Given the description of an element on the screen output the (x, y) to click on. 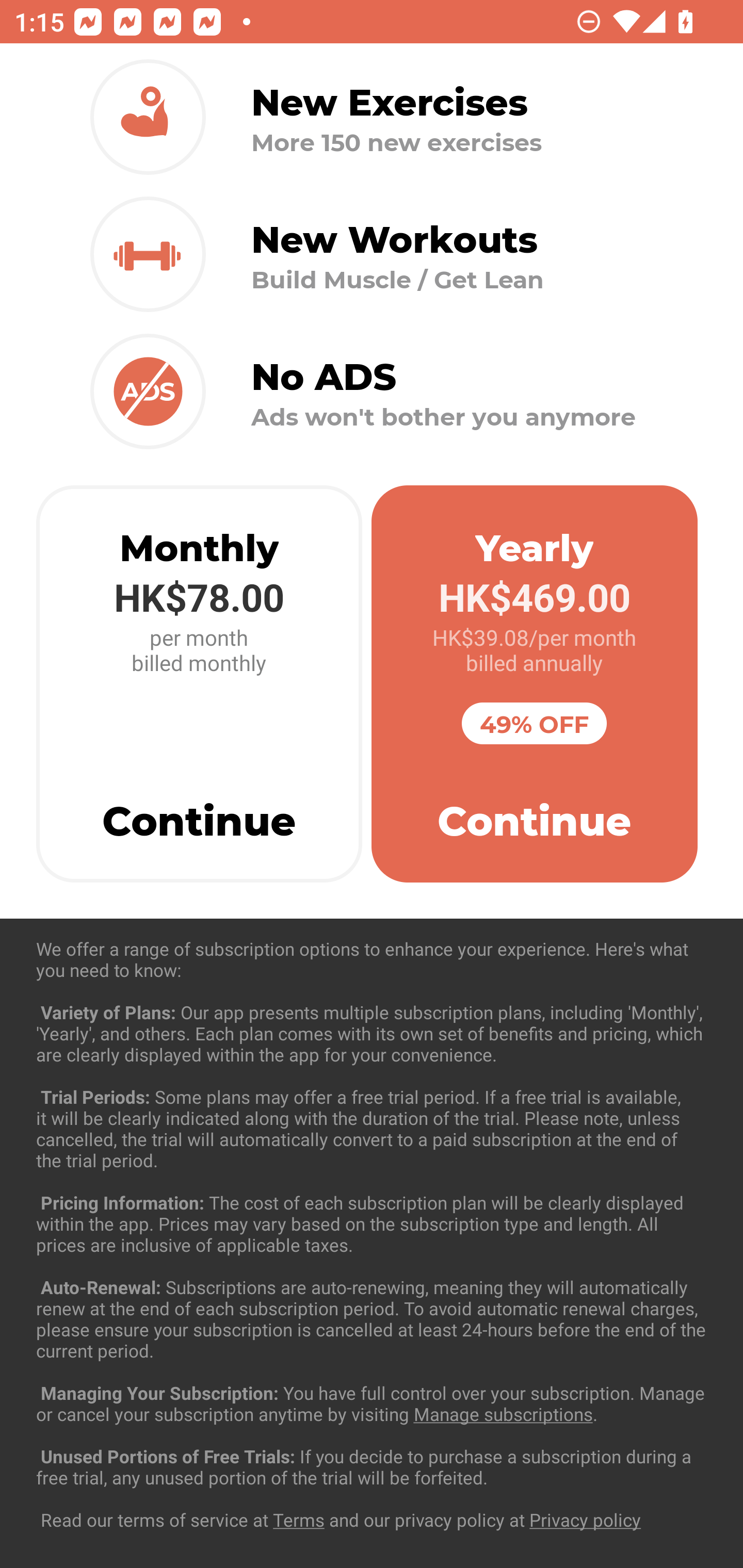
Monthly HK$78.00 per month
billed monthly Continue (199, 684)
Exercise Chest 37 exercises (371, 1033)
Exercise Forearms 4 exercises (371, 1232)
Exercise Legs 36 exercises (371, 1430)
